Given the description of an element on the screen output the (x, y) to click on. 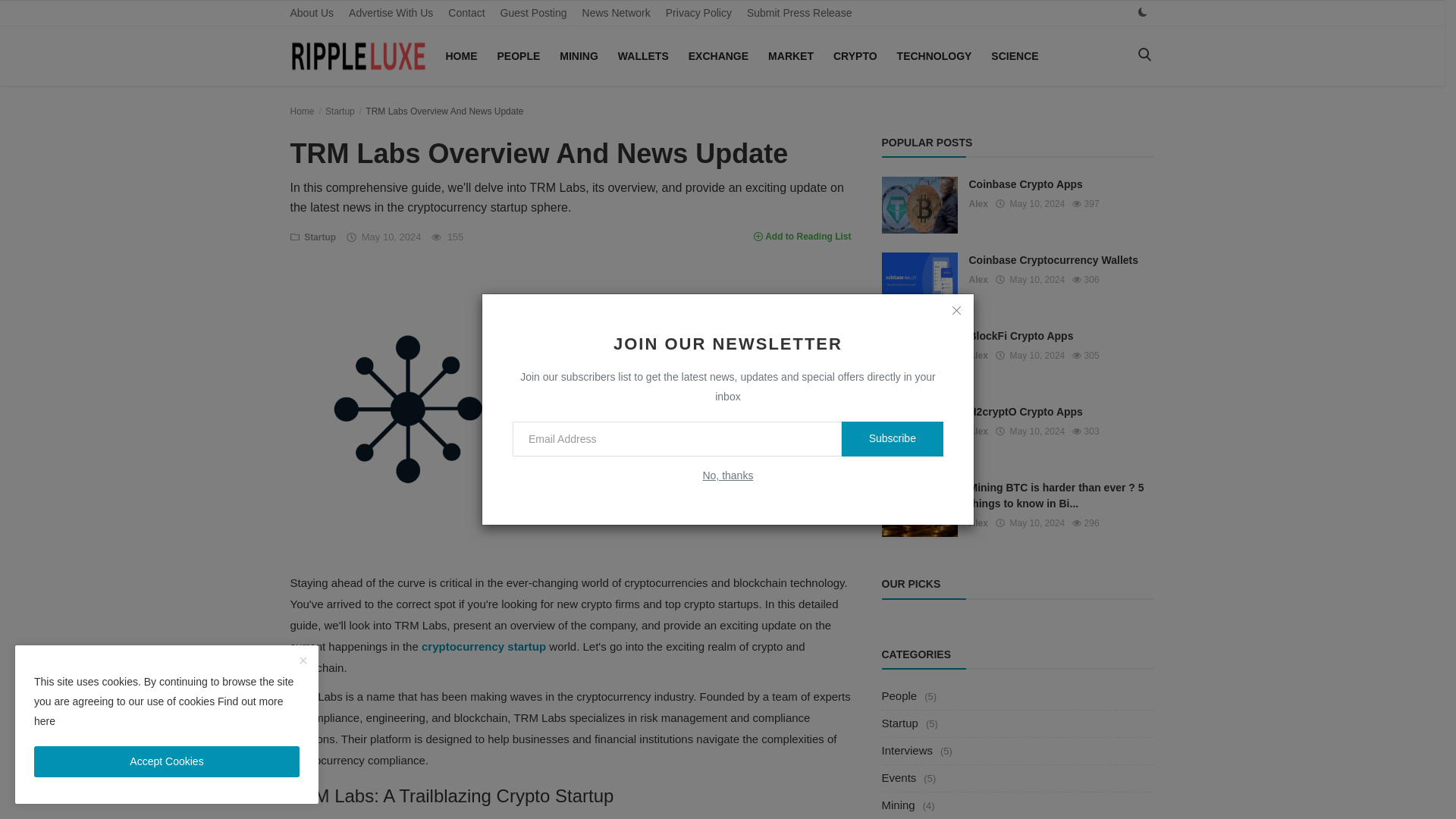
WALLETS (643, 55)
Advertise With Us (390, 13)
Privacy Policy (698, 13)
CRYPTO (855, 55)
Guest Posting (534, 13)
News Network (616, 13)
MARKET (790, 55)
EXCHANGE (718, 55)
Contact (466, 13)
TECHNOLOGY (934, 55)
SCIENCE (1014, 55)
PEOPLE (518, 55)
About Us (311, 13)
dark (1141, 12)
MINING (578, 55)
